Given the description of an element on the screen output the (x, y) to click on. 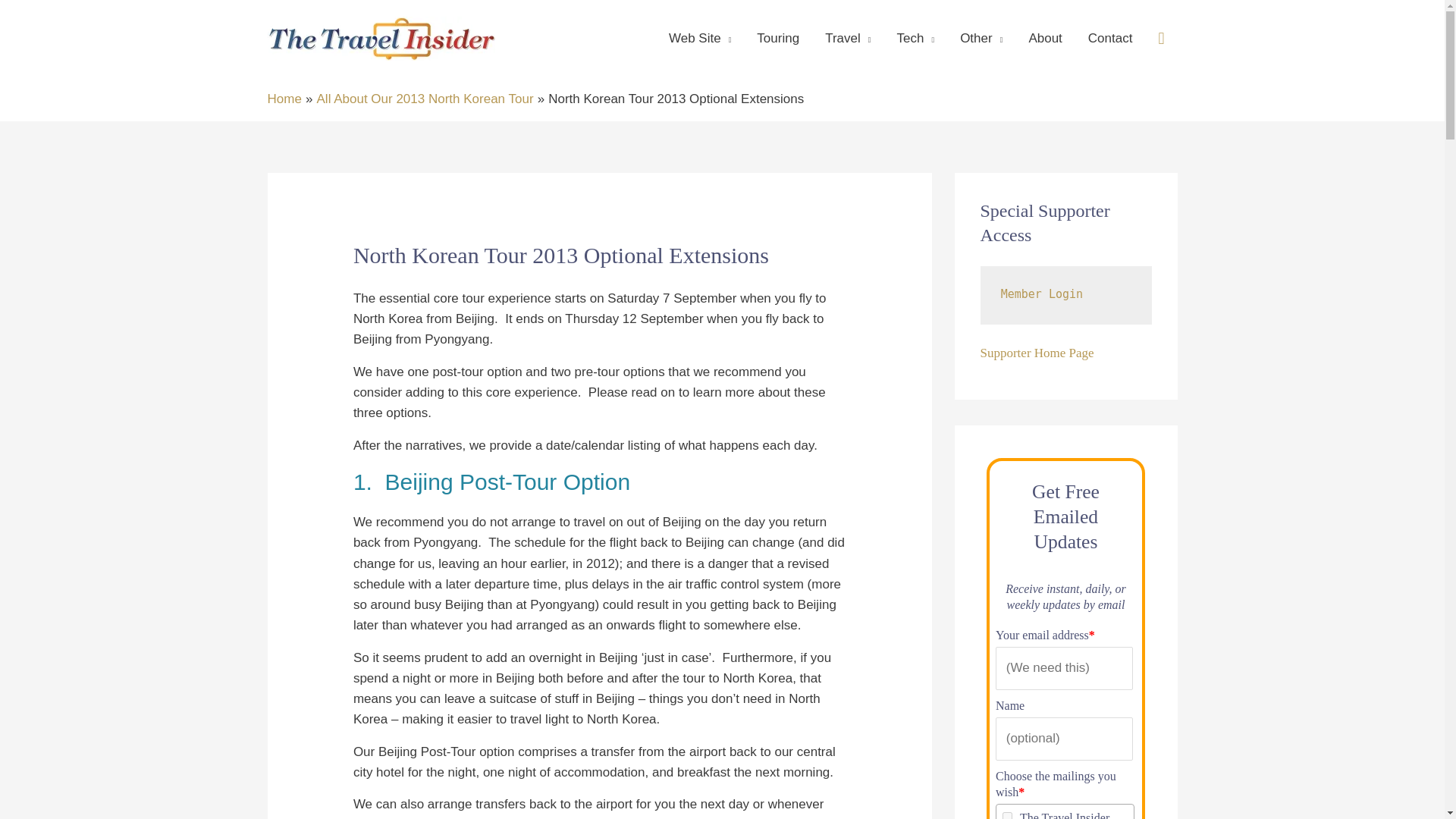
692267 (1007, 815)
Choose the list you want to join (1007, 815)
Travel (847, 38)
Required (1091, 634)
Web Site (700, 38)
Required (1021, 791)
Touring (778, 38)
